Given the description of an element on the screen output the (x, y) to click on. 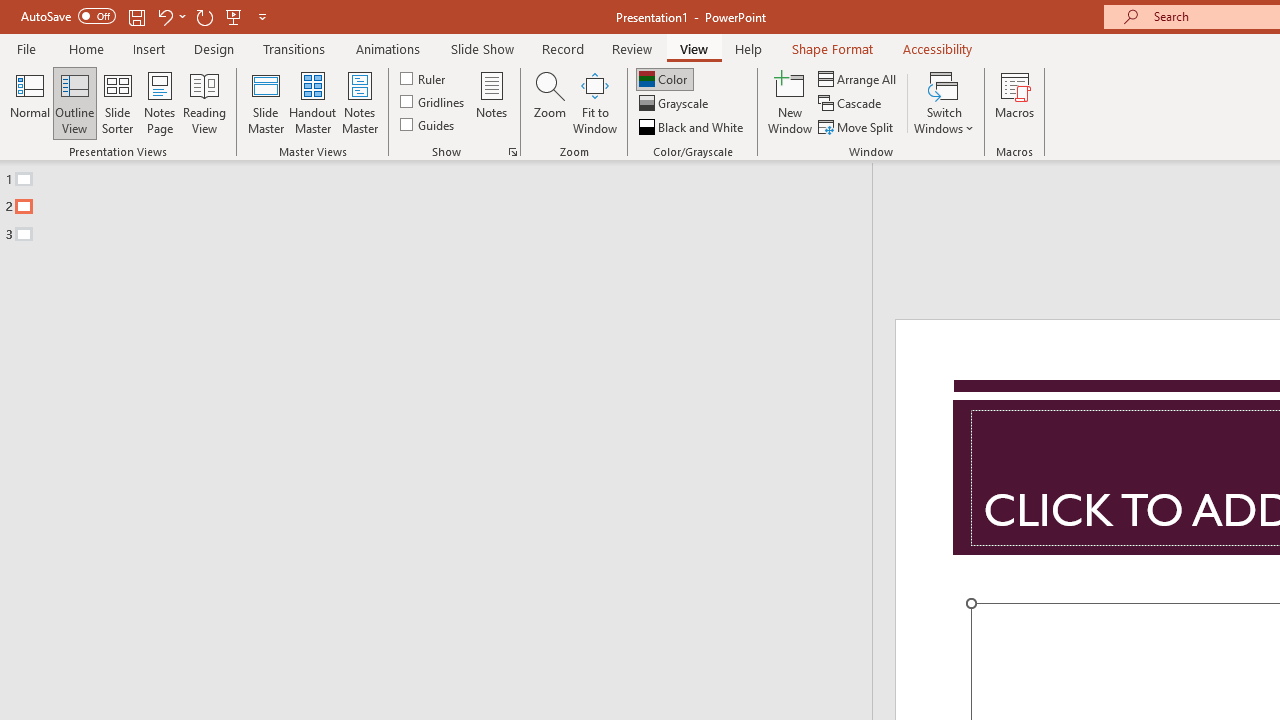
Arrange All (858, 78)
Zoom... (549, 102)
Notes Master (360, 102)
Guides (428, 124)
Switch Windows (943, 102)
